Given the description of an element on the screen output the (x, y) to click on. 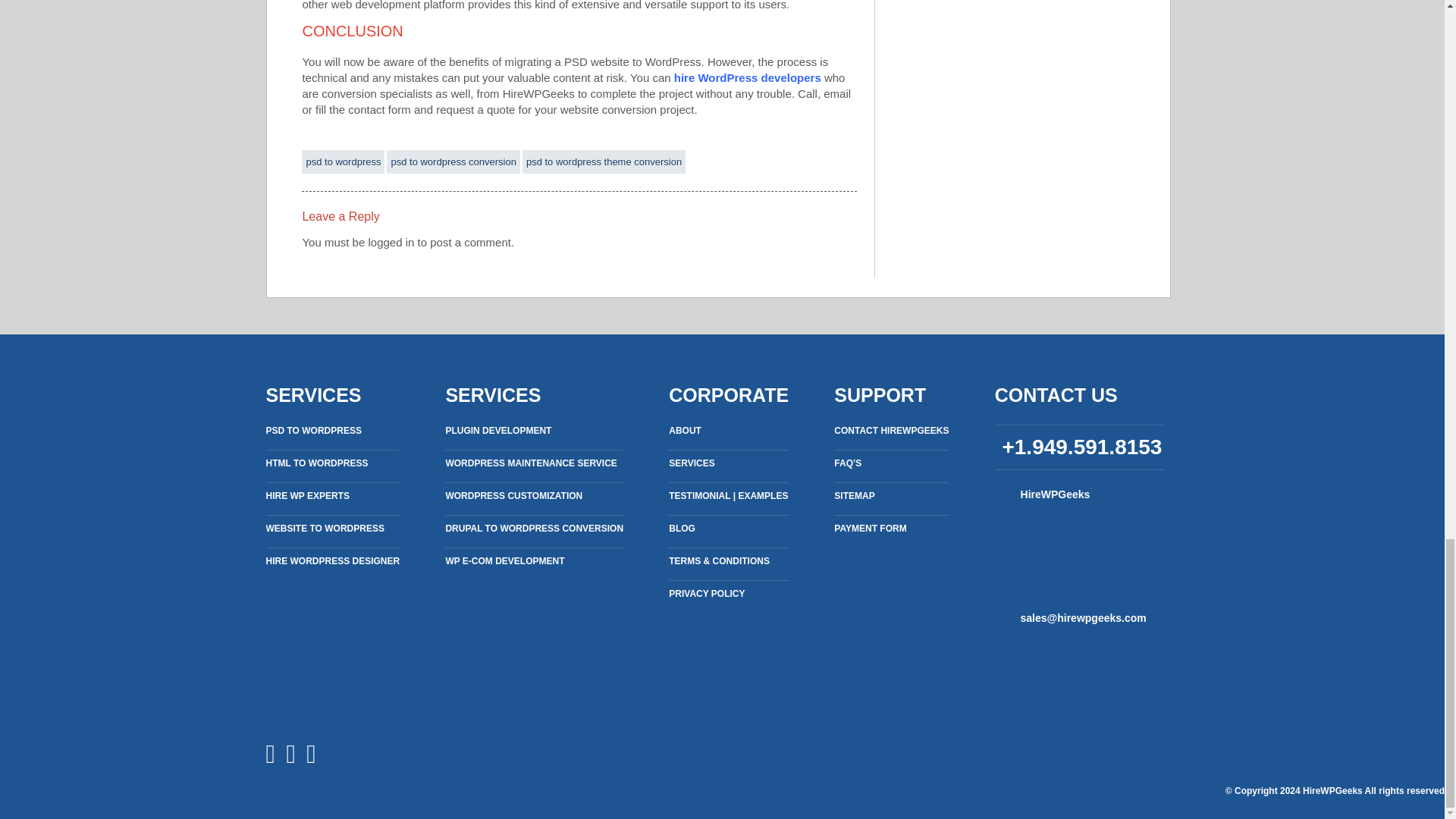
hire WordPress developers (747, 77)
